Given the description of an element on the screen output the (x, y) to click on. 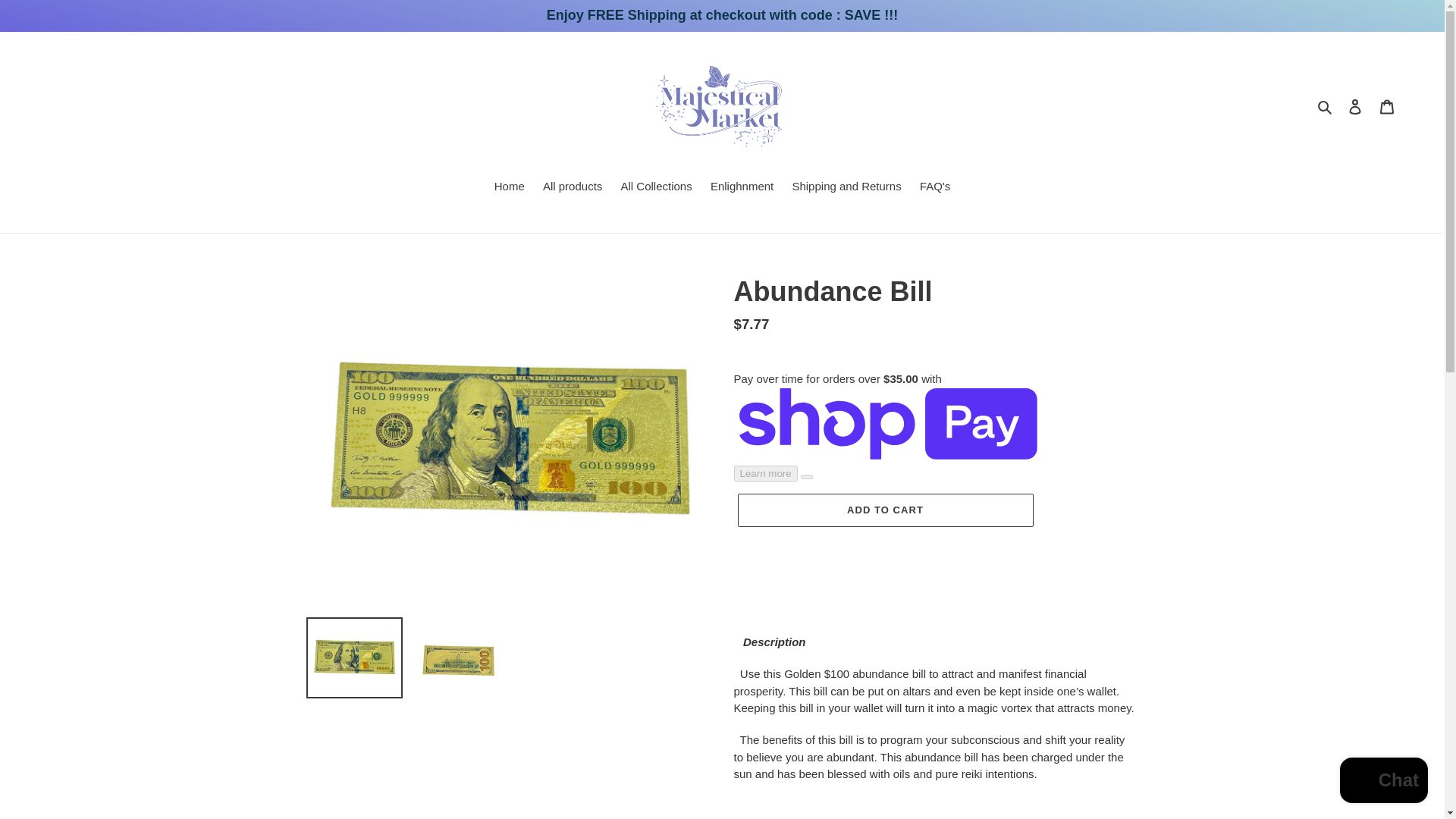
All products (572, 188)
Search (1326, 106)
All Collections (655, 188)
Log in (1355, 106)
Enlighnment (741, 188)
Shopify online store chat (1383, 781)
Shipping and Returns (846, 188)
Home (509, 188)
Cart (1387, 106)
ADD TO CART (884, 510)
